Given the description of an element on the screen output the (x, y) to click on. 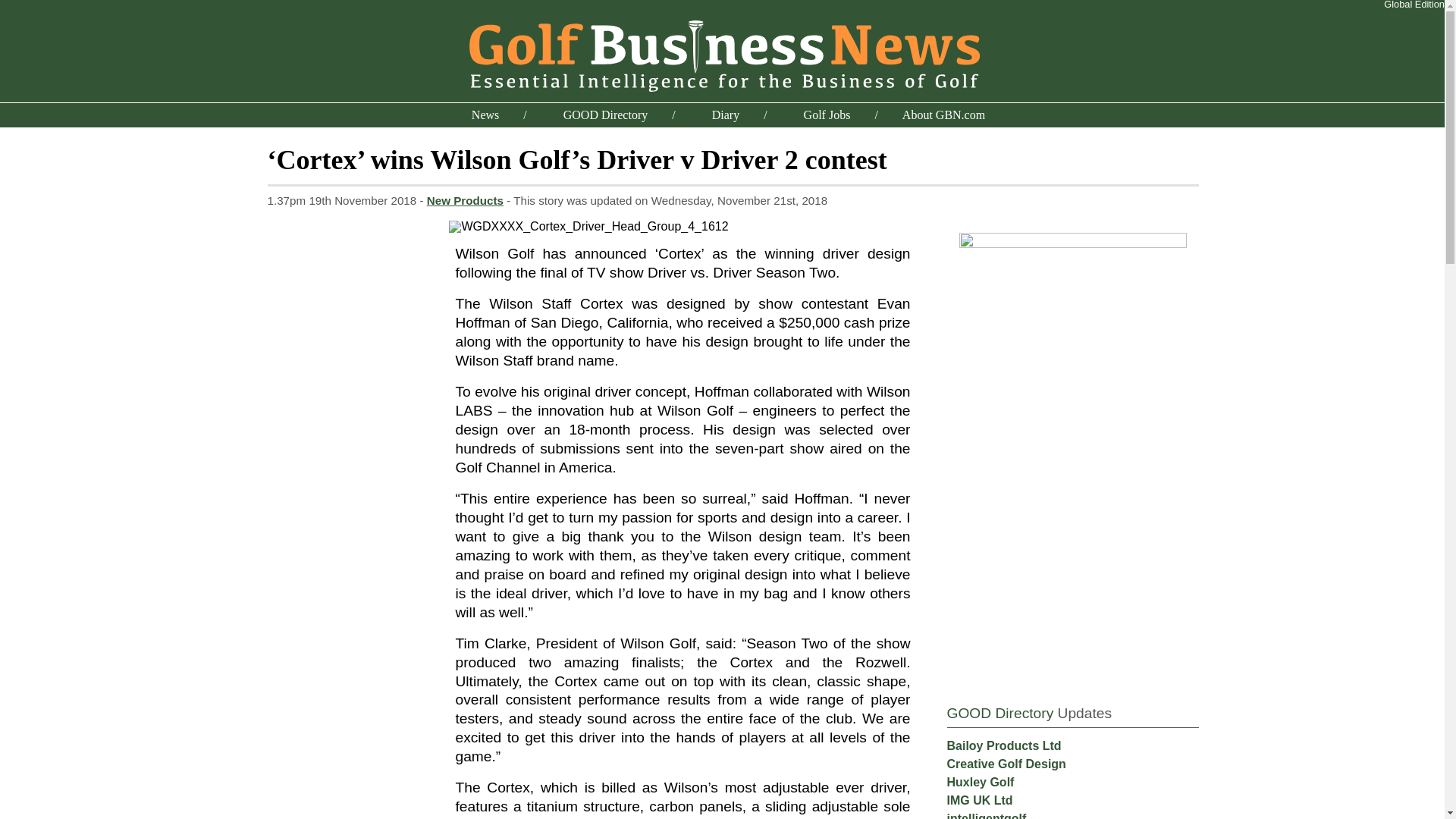
News (485, 114)
Creative Golf Design (1005, 763)
About GBN.com (943, 114)
intelligentgolf (986, 815)
GBN Home (722, 52)
GOOD Directory (999, 713)
Huxley Golf (979, 781)
Bailoy Products Ltd (1003, 745)
New Products (464, 200)
GOOD Directory (605, 114)
Golf Jobs (826, 114)
IMG UK Ltd (978, 799)
Diary (725, 114)
All the latest news from the golf industry (485, 114)
